Given the description of an element on the screen output the (x, y) to click on. 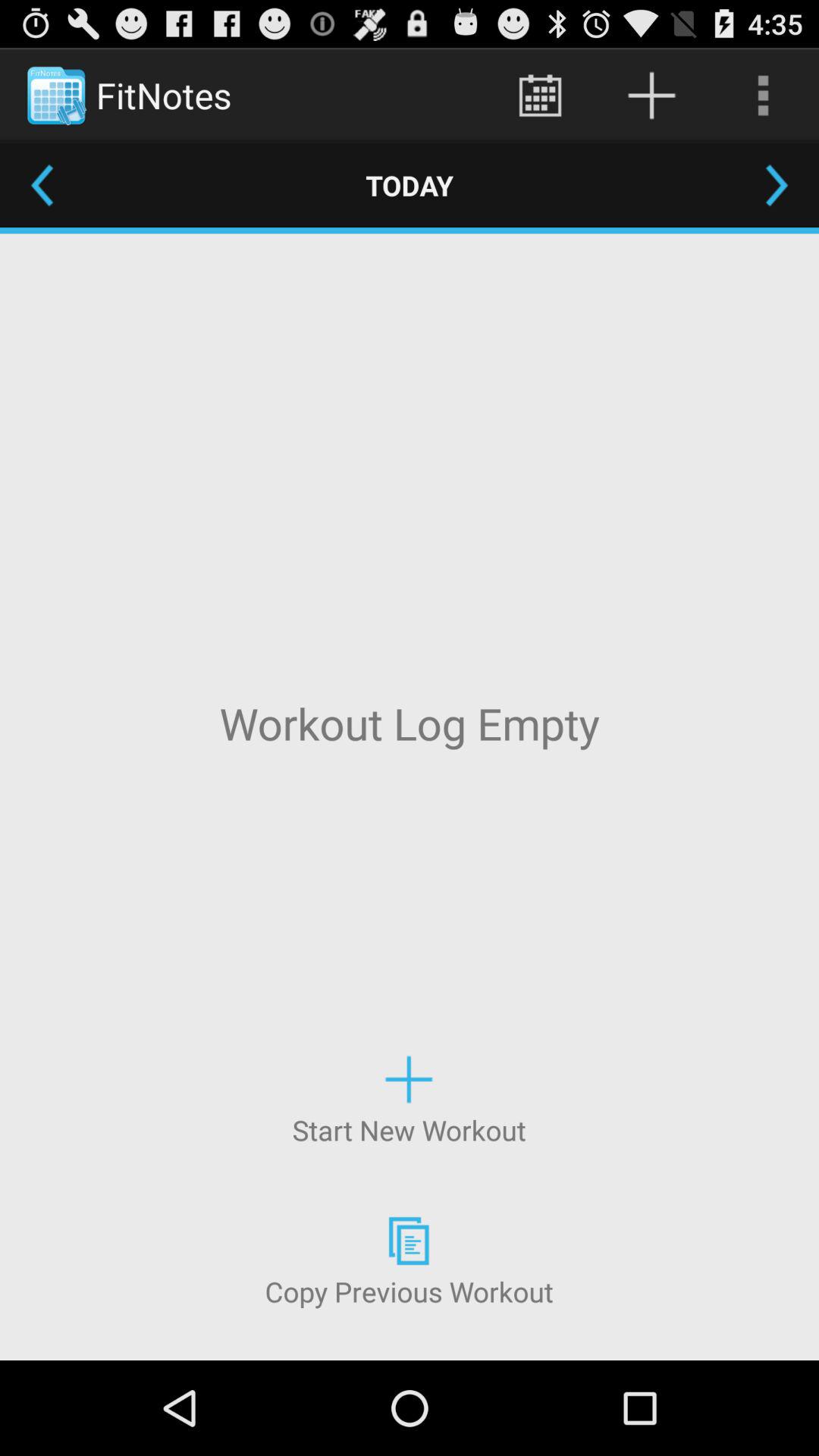
press icon below start new workout icon (408, 1259)
